Given the description of an element on the screen output the (x, y) to click on. 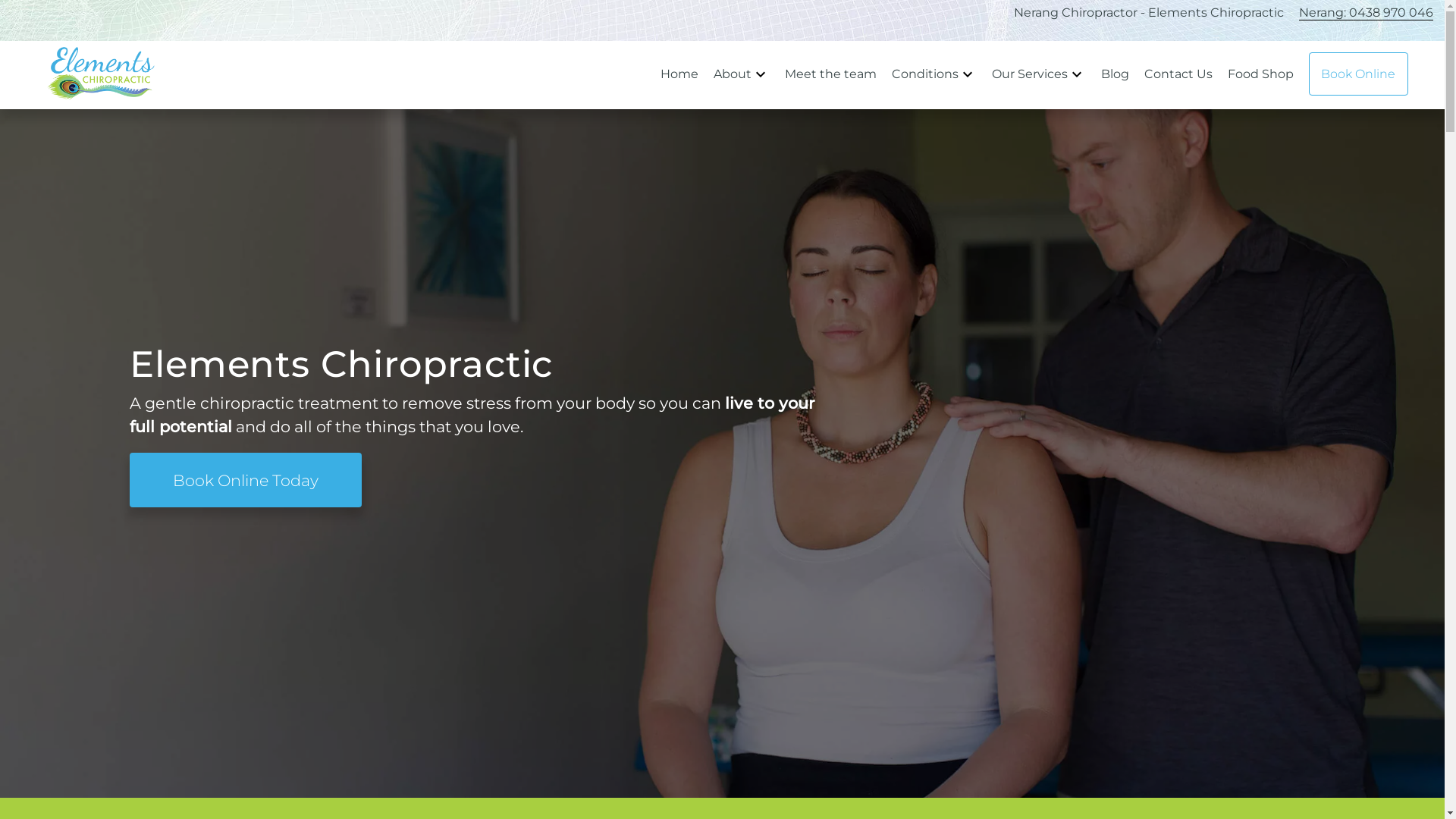
Blog Element type: text (1115, 73)
Home Element type: text (680, 73)
Book Online Element type: text (1358, 73)
Food Shop Element type: text (1260, 73)
Meet the team Element type: text (831, 73)
Book Online Today Element type: text (244, 479)
Contact Us Element type: text (1179, 73)
Nerang: 0438 970 046 Element type: text (1366, 12)
